Given the description of an element on the screen output the (x, y) to click on. 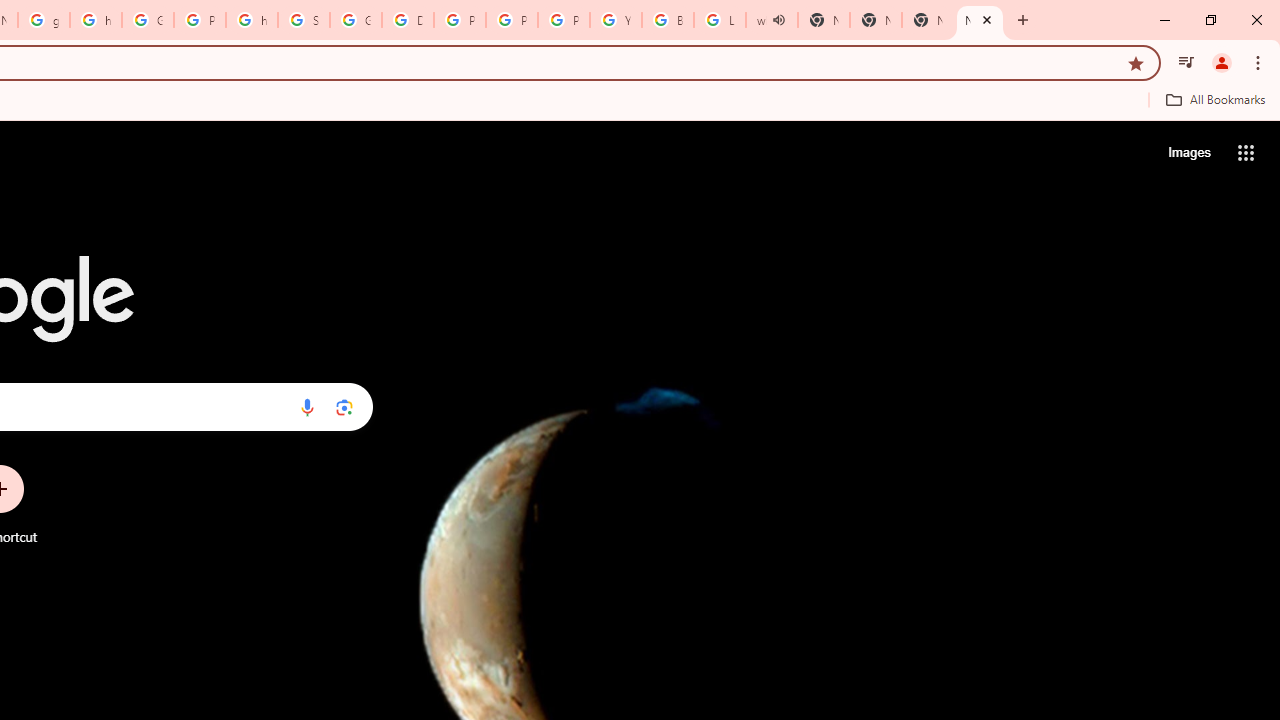
Privacy Help Center - Policies Help (459, 20)
New Tab (979, 20)
YouTube (616, 20)
